Given the description of an element on the screen output the (x, y) to click on. 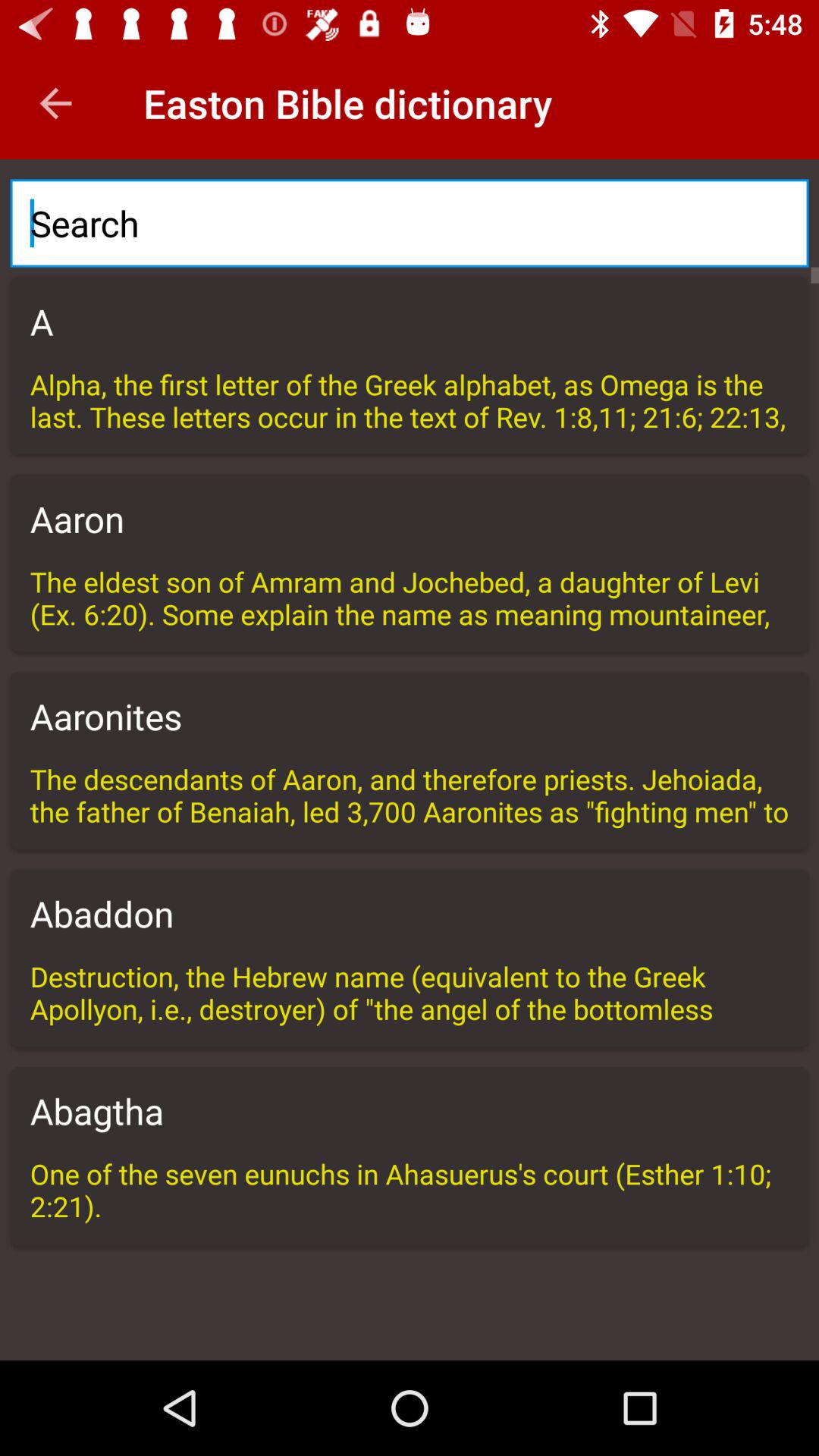
select the icon below the the descendants of (409, 913)
